Given the description of an element on the screen output the (x, y) to click on. 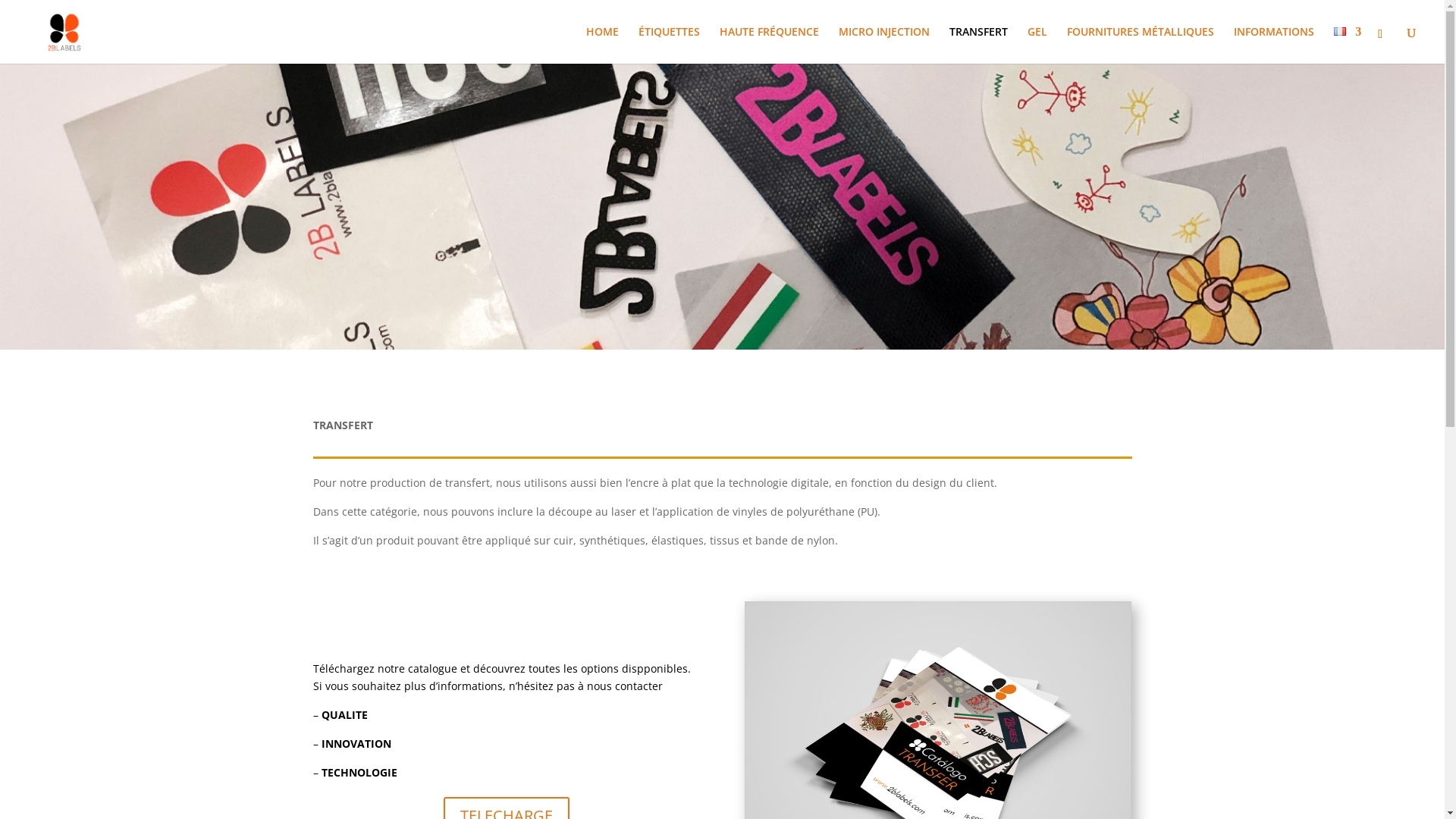
GEL Element type: text (1037, 44)
HOME Element type: text (602, 44)
INFORMATIONS Element type: text (1273, 44)
MICRO INJECTION Element type: text (883, 44)
TRANSFERT Element type: text (978, 44)
